Given the description of an element on the screen output the (x, y) to click on. 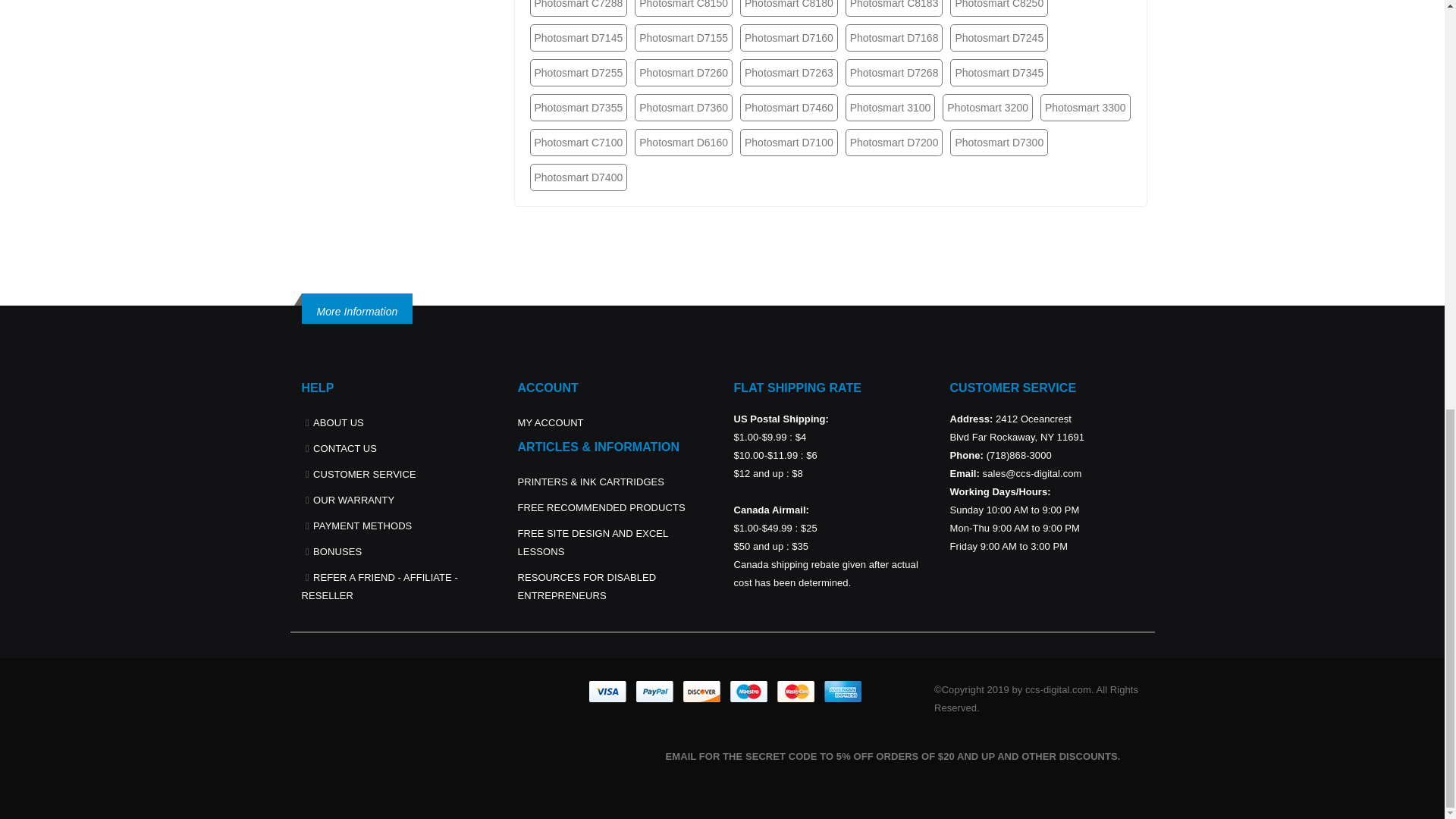
Refer A Friend - Affiliate - Reseller (379, 586)
 Resources for disabled entrepreneurs (586, 586)
Our Warranty (353, 500)
Customer Service (364, 473)
 Free Recommended Products (600, 507)
Bonuses (337, 551)
About us (338, 422)
Contact us (345, 448)
 Free Site Design and Excel Lessons (591, 542)
Payment Methods (362, 525)
